Given the description of an element on the screen output the (x, y) to click on. 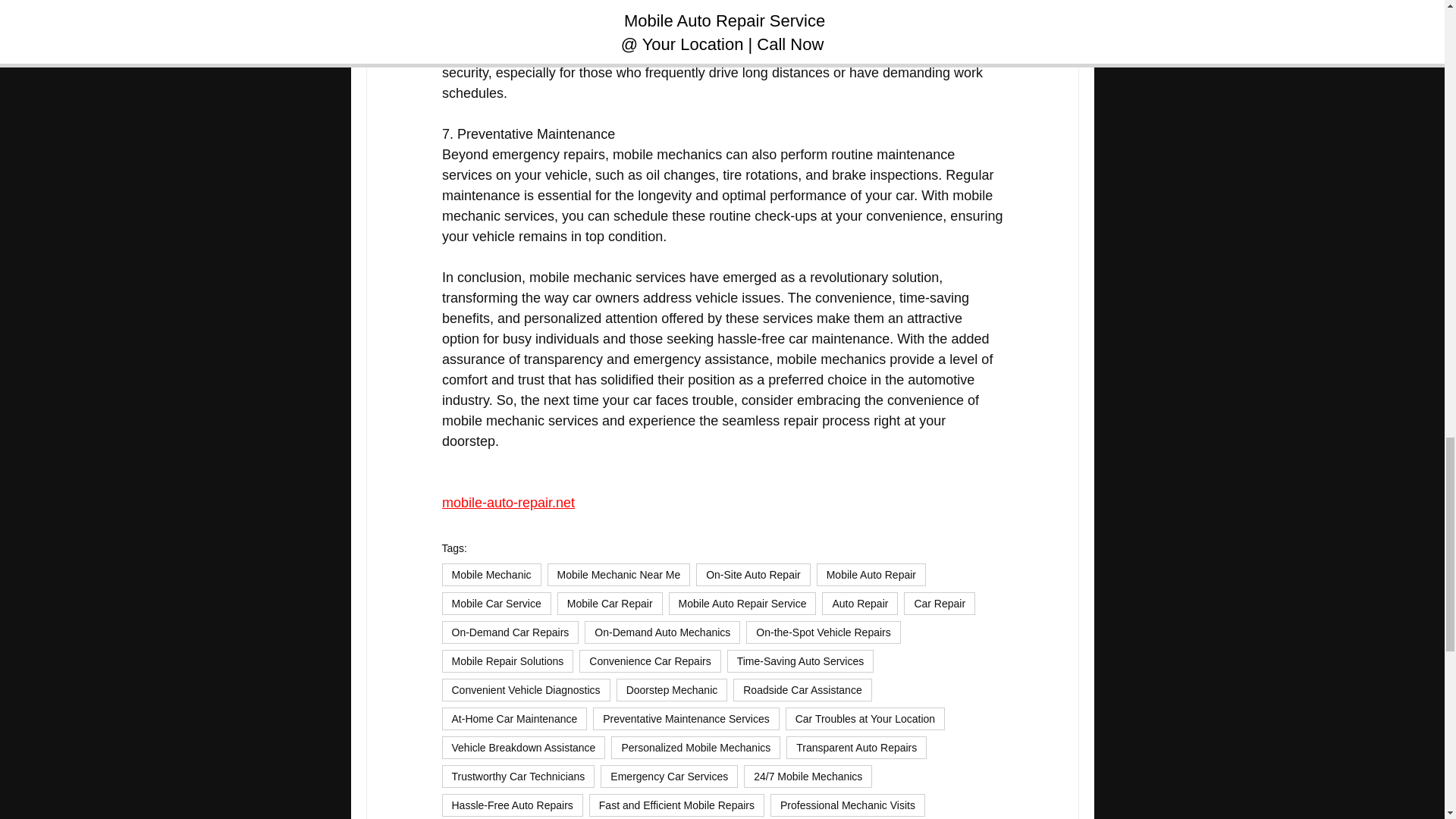
On-Demand Auto Mechanics (662, 631)
Fast and Efficient Mobile Repairs (676, 804)
Mobile Auto Repair (871, 574)
Roadside Car Assistance (801, 689)
Vehicle Breakdown Assistance (523, 747)
Convenient Vehicle Diagnostics (525, 689)
Mobile Mechanic (490, 574)
On-Demand Car Repairs (509, 631)
Hassle-Free Auto Repairs (511, 804)
Personalized Mobile Mechanics (695, 747)
Emergency Car Services (668, 775)
Mobile Repair Solutions (507, 661)
Auto Repair (860, 603)
Mobile Auto Repair Service (742, 603)
Doorstep Mechanic (671, 689)
